Given the description of an element on the screen output the (x, y) to click on. 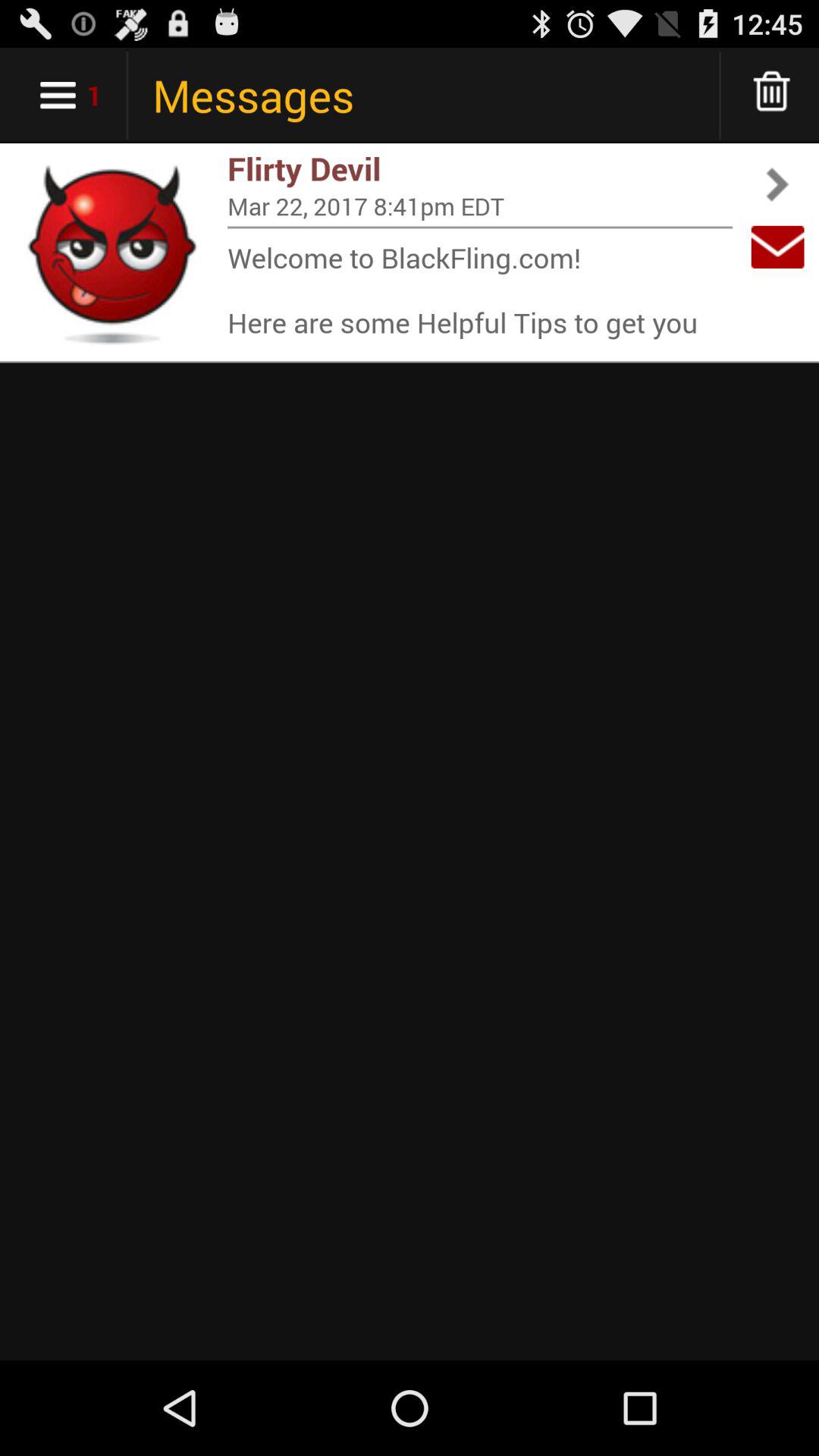
flip until the flirty devil (479, 168)
